Given the description of an element on the screen output the (x, y) to click on. 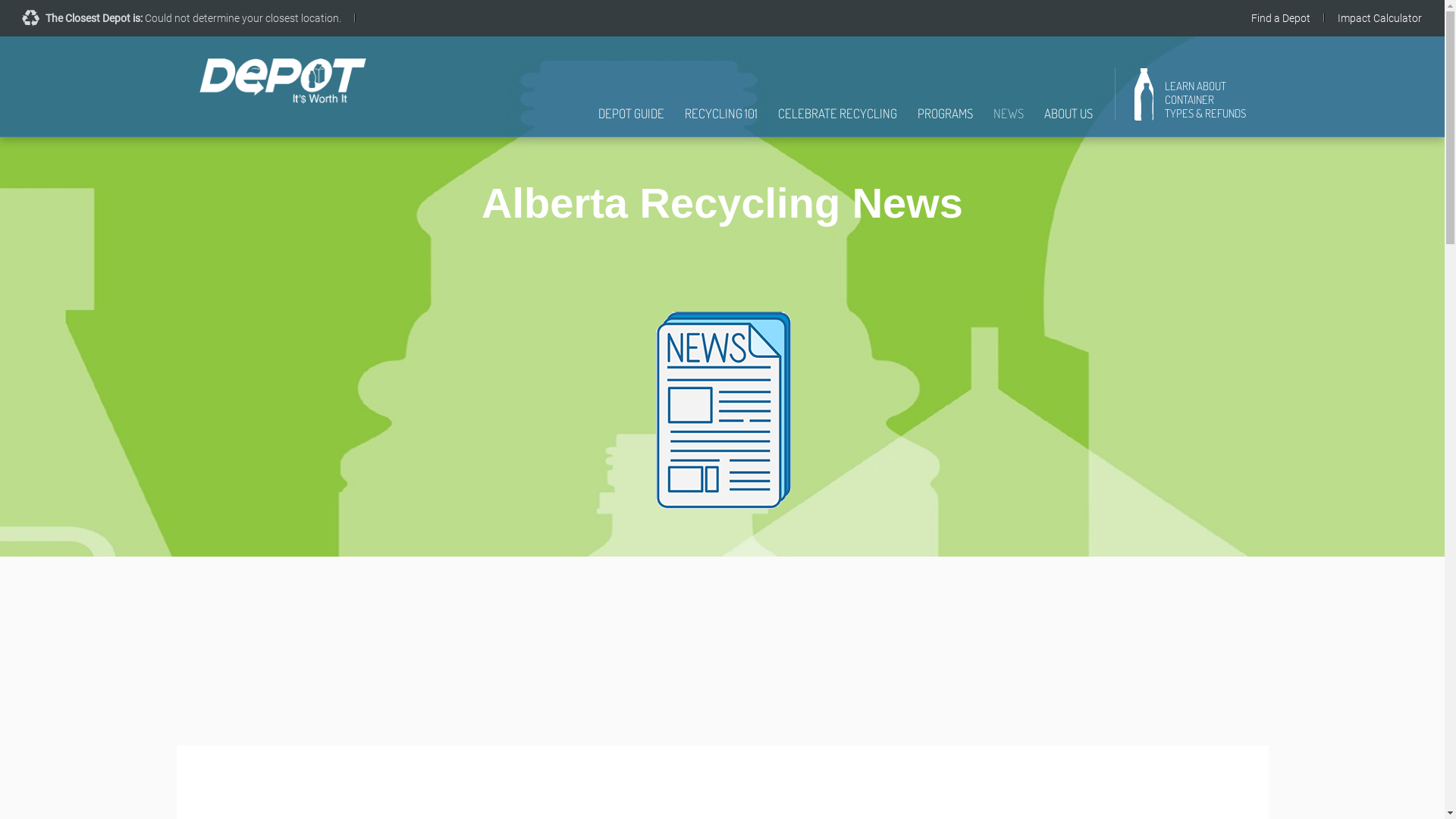
ABOUT US Element type: text (1067, 121)
NEWS Element type: text (1008, 121)
Find a Depot Element type: text (1280, 18)
CELEBRATE RECYCLING Element type: text (837, 121)
PROGRAMS Element type: text (944, 121)
RECYCLING 101 Element type: text (720, 121)
LEARN ABOUT
CONTAINER
TYPES & REFUNDS Element type: text (1189, 99)
DEPOT GUIDE Element type: text (630, 121)
Impact Calculator Element type: text (1379, 18)
